Given the description of an element on the screen output the (x, y) to click on. 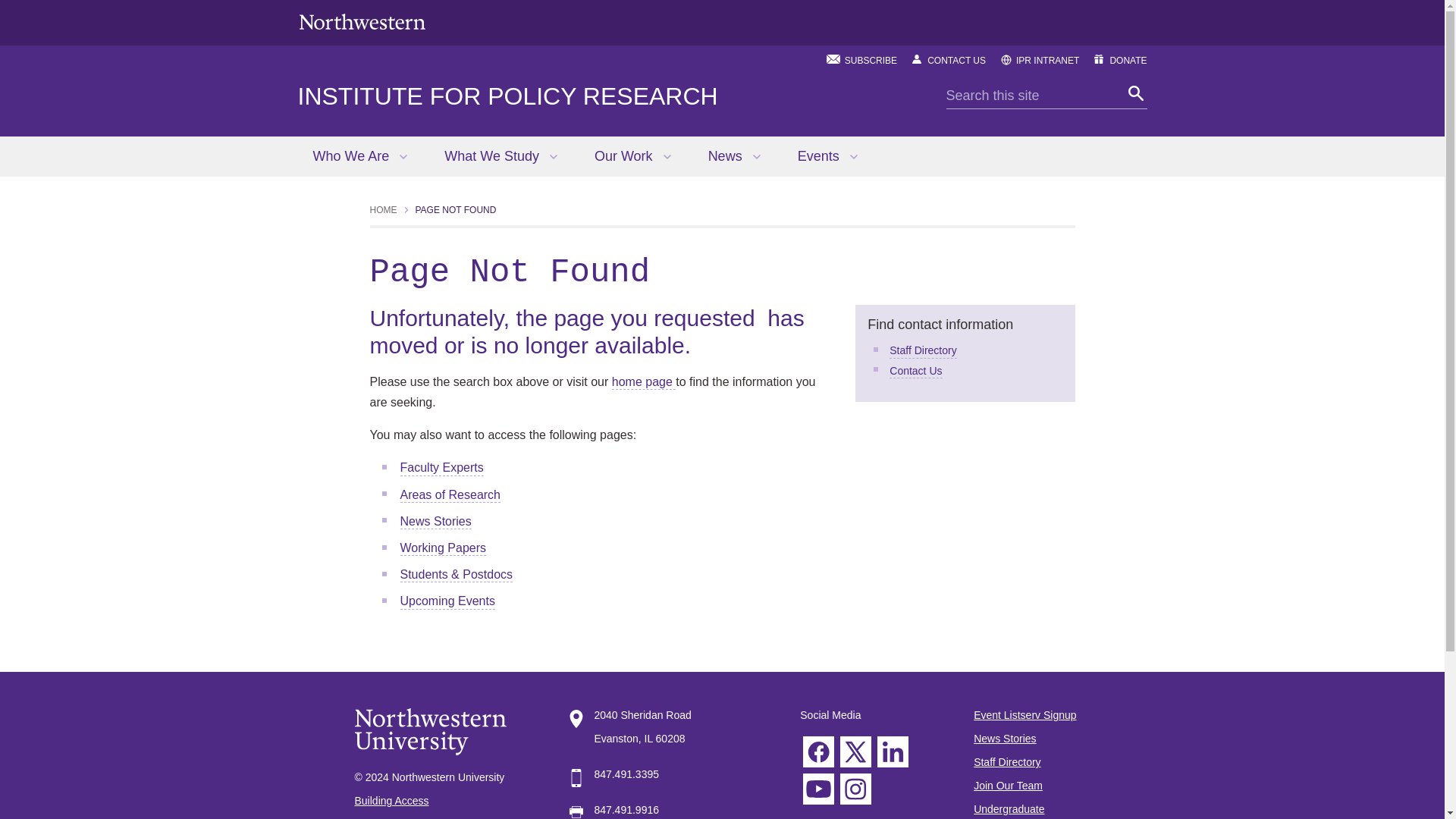
SUBSCRIBE (870, 60)
IPR INTRANET (1047, 60)
INSTITUTE FOR POLICY RESEARCH (507, 94)
CONTACT US (956, 60)
Northwestern University Home (361, 21)
DONATE (1128, 60)
